Given the description of an element on the screen output the (x, y) to click on. 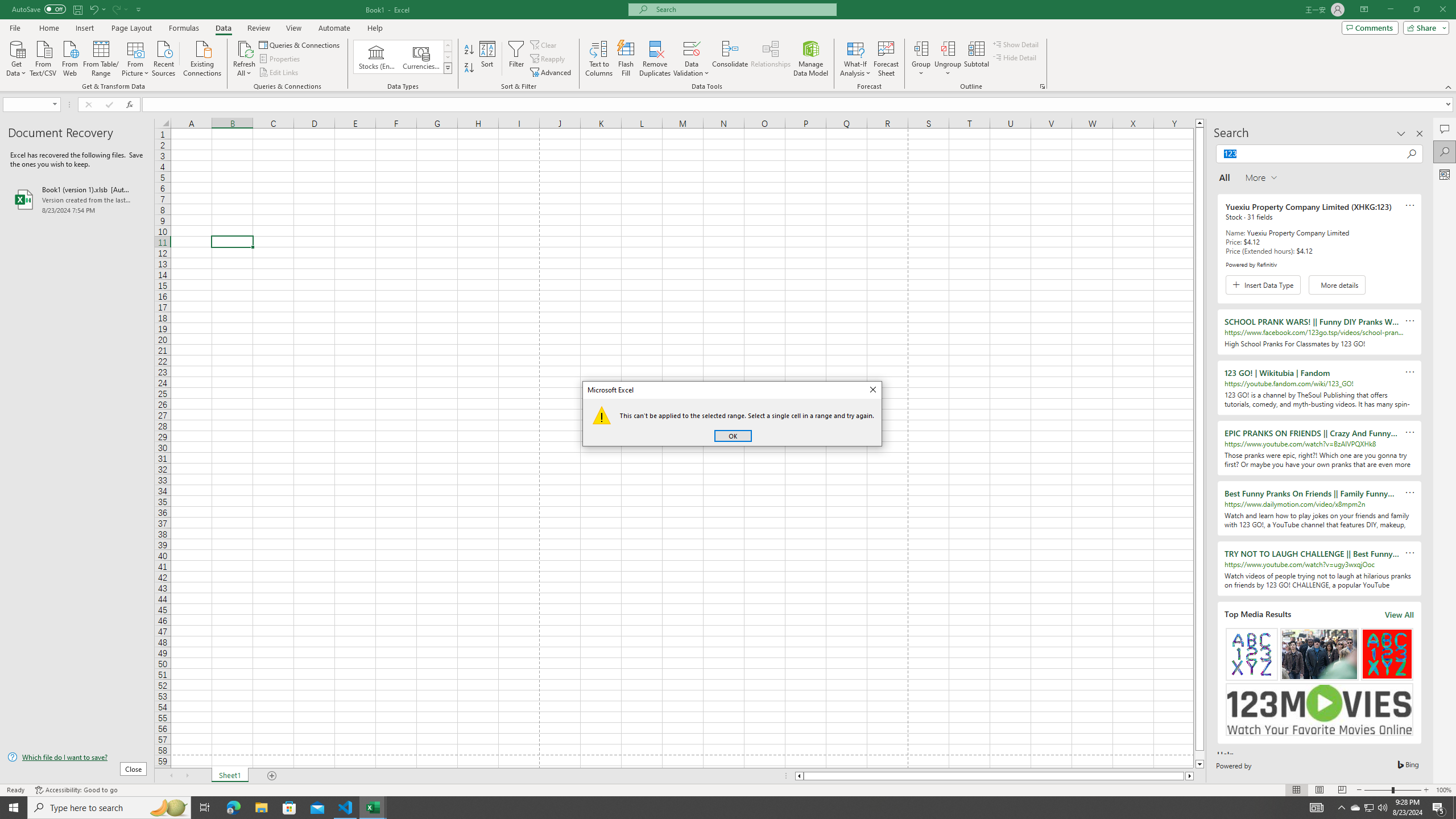
Visual Studio Code - 1 running window (1355, 807)
Text to Columns... (1368, 807)
What-If Analysis (345, 807)
Group and Outline Settings (598, 58)
Class: NetUIImage (855, 58)
Search (1042, 85)
Sort A to Z (447, 68)
